Given the description of an element on the screen output the (x, y) to click on. 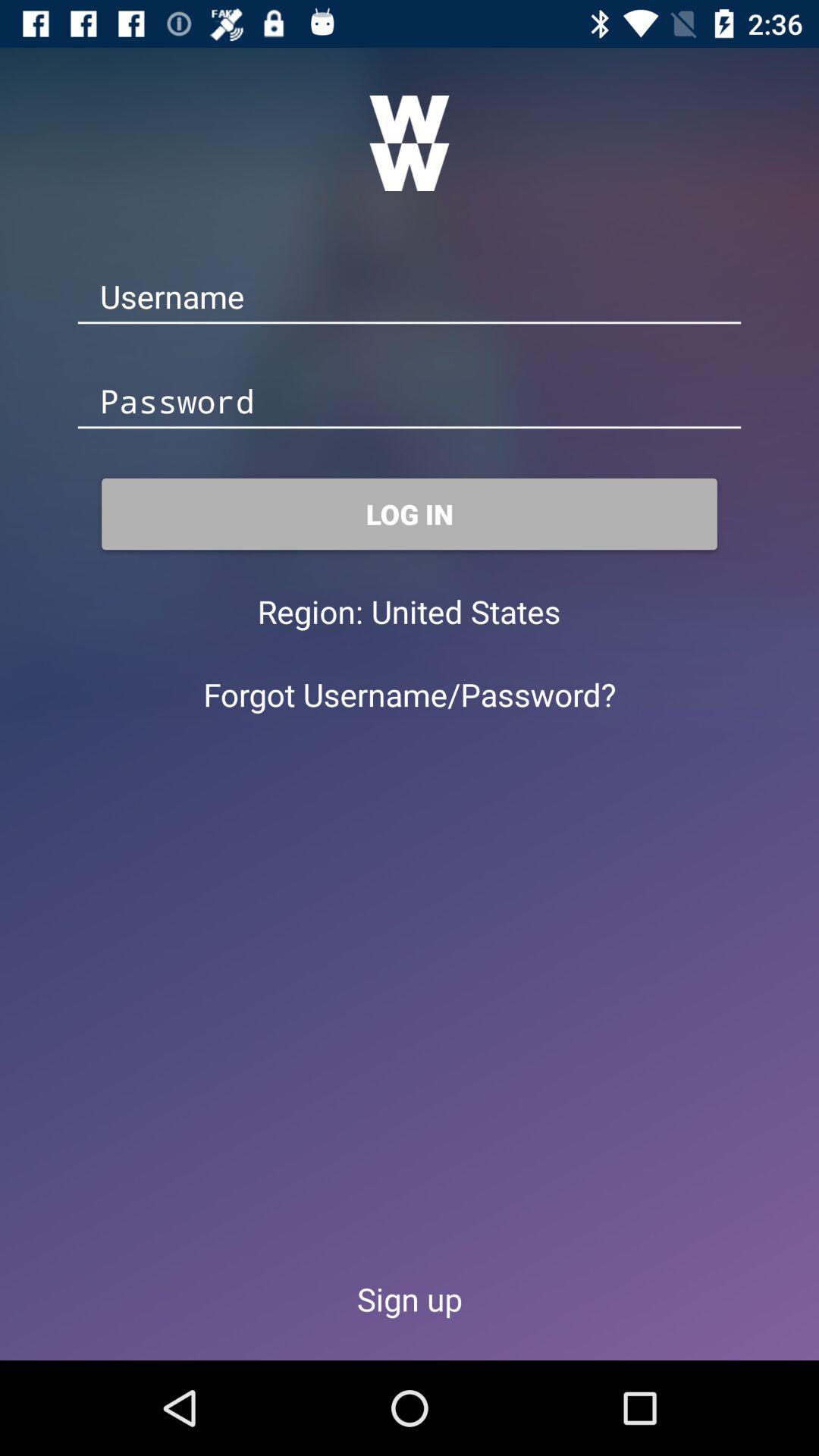
tap the sign up item (409, 1298)
